Given the description of an element on the screen output the (x, y) to click on. 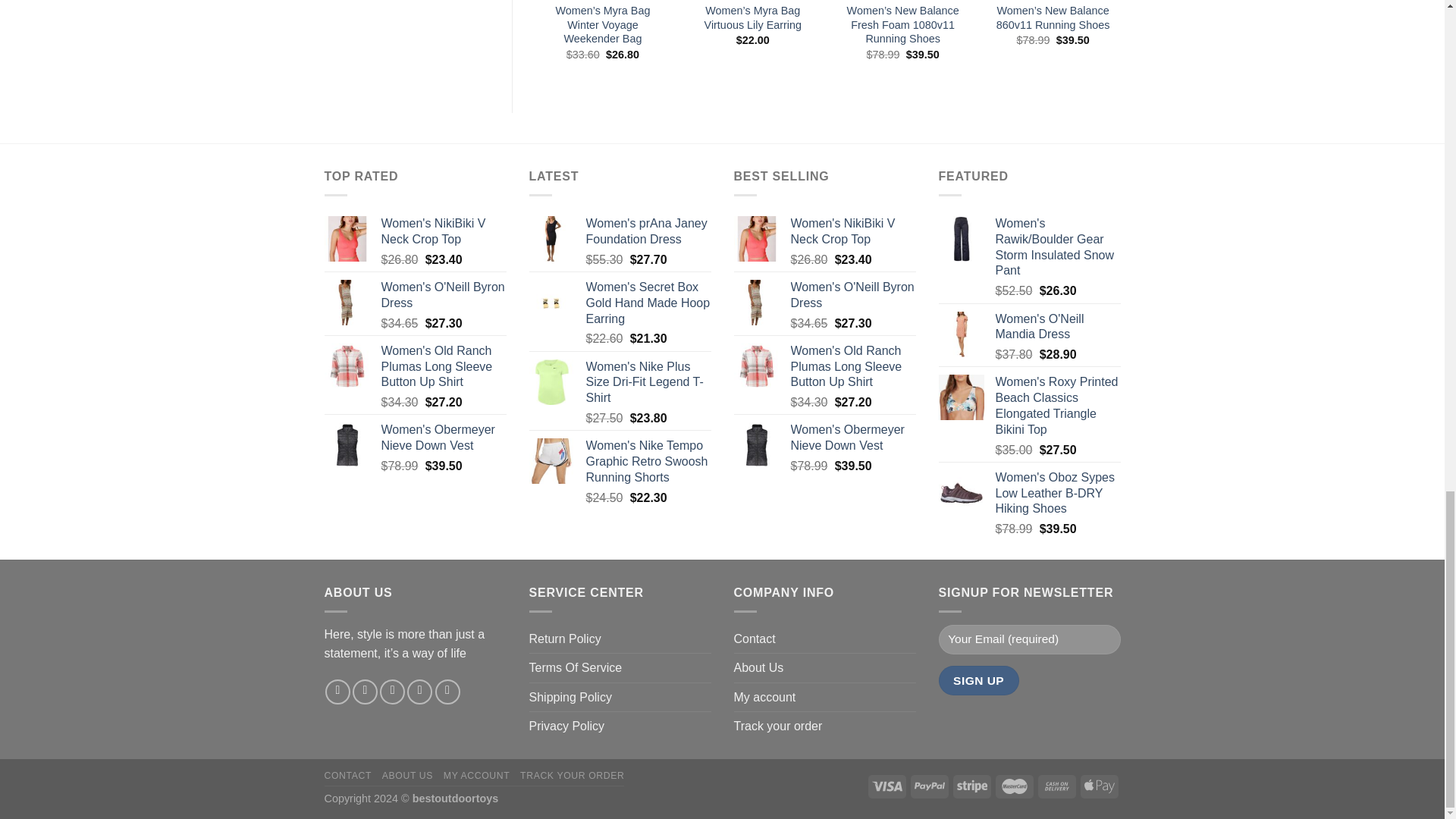
Sign Up (979, 680)
